Given the description of an element on the screen output the (x, y) to click on. 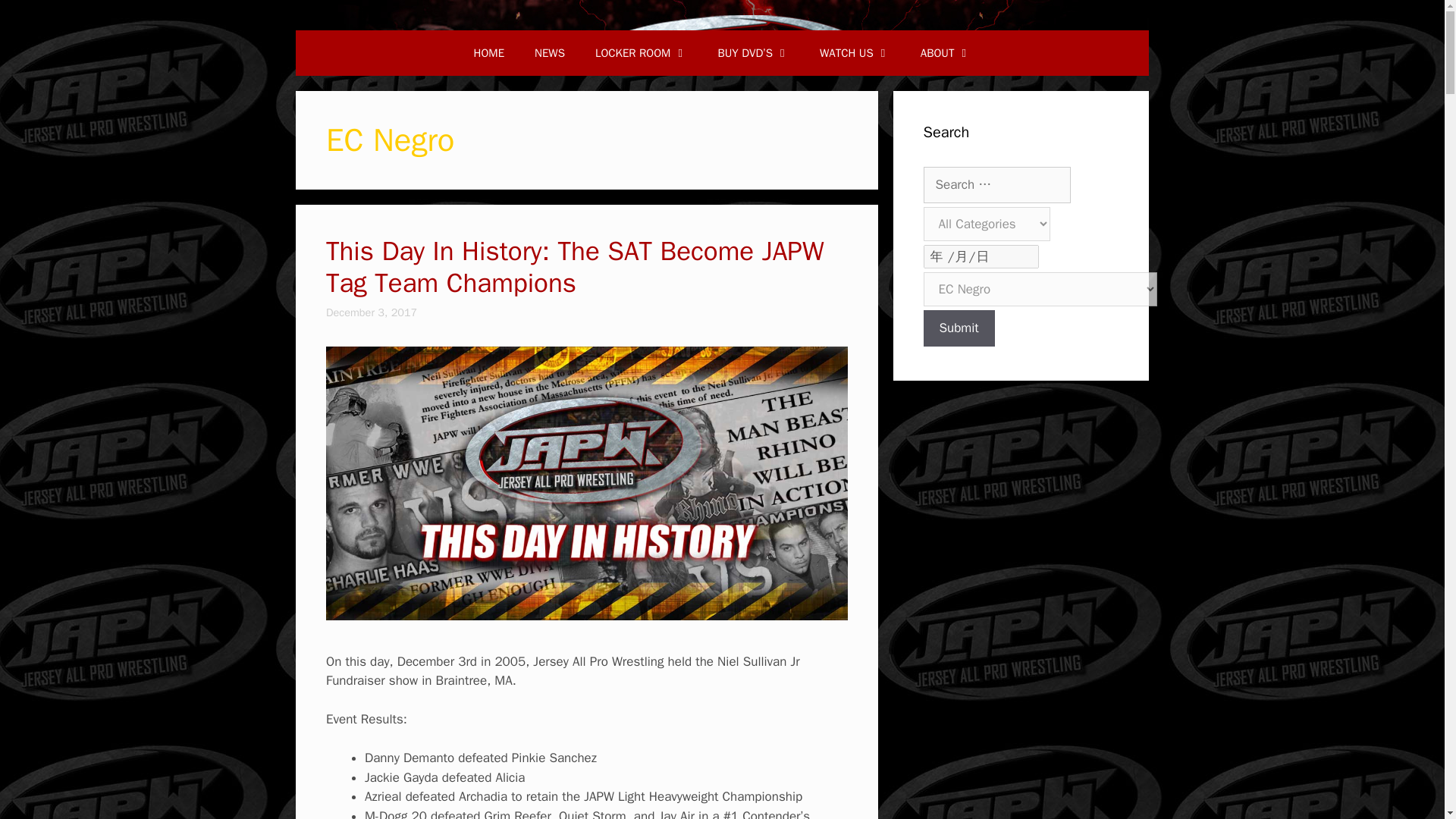
Submit (958, 328)
LOCKER ROOM (641, 53)
WATCH US (855, 53)
ABOUT (946, 53)
HOME (488, 53)
NEWS (549, 53)
This Day In History: The SAT Become JAPW Tag Team Champions (575, 266)
